Given the description of an element on the screen output the (x, y) to click on. 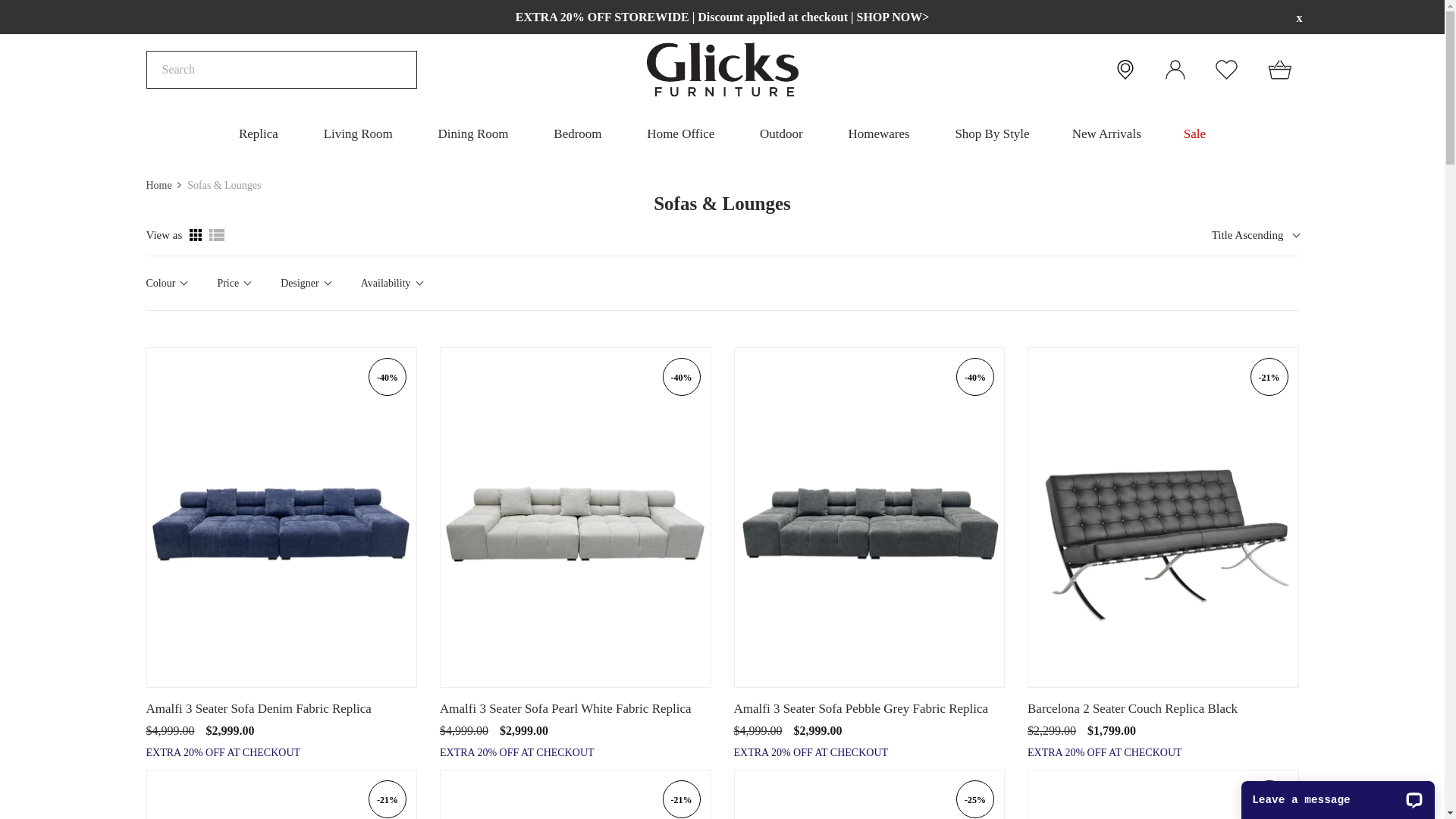
Barcelona 2 Seater Couch Replica Black Element type: text (1163, 708)
New Arrivals Element type: text (1106, 133)
Availability Element type: text (391, 282)
Homewares Element type: text (878, 133)
Price Element type: text (233, 282)
Home Office Element type: text (680, 133)
Replica Element type: text (258, 133)
Amalfi 3 Seater Sofa Pearl White Fabric Replica Element type: text (575, 708)
Glicks Furniture Element type: text (721, 69)
SHOP NOW> Element type: text (892, 16)
Colour Element type: text (165, 282)
Home Element type: text (158, 185)
Outdoor Element type: text (781, 133)
Shop By Style Element type: text (991, 133)
Amalfi 3 Seater Sofa Denim Fabric Replica Element type: text (281, 708)
Designer Element type: text (305, 282)
Bedroom Element type: text (577, 133)
Living Room Element type: text (357, 133)
Sale Element type: text (1194, 133)
Amalfi 3 Seater Sofa Pebble Grey Fabric Replica Element type: text (869, 708)
Title Ascending Element type: text (1253, 235)
Dining Room Element type: text (473, 133)
